Given the description of an element on the screen output the (x, y) to click on. 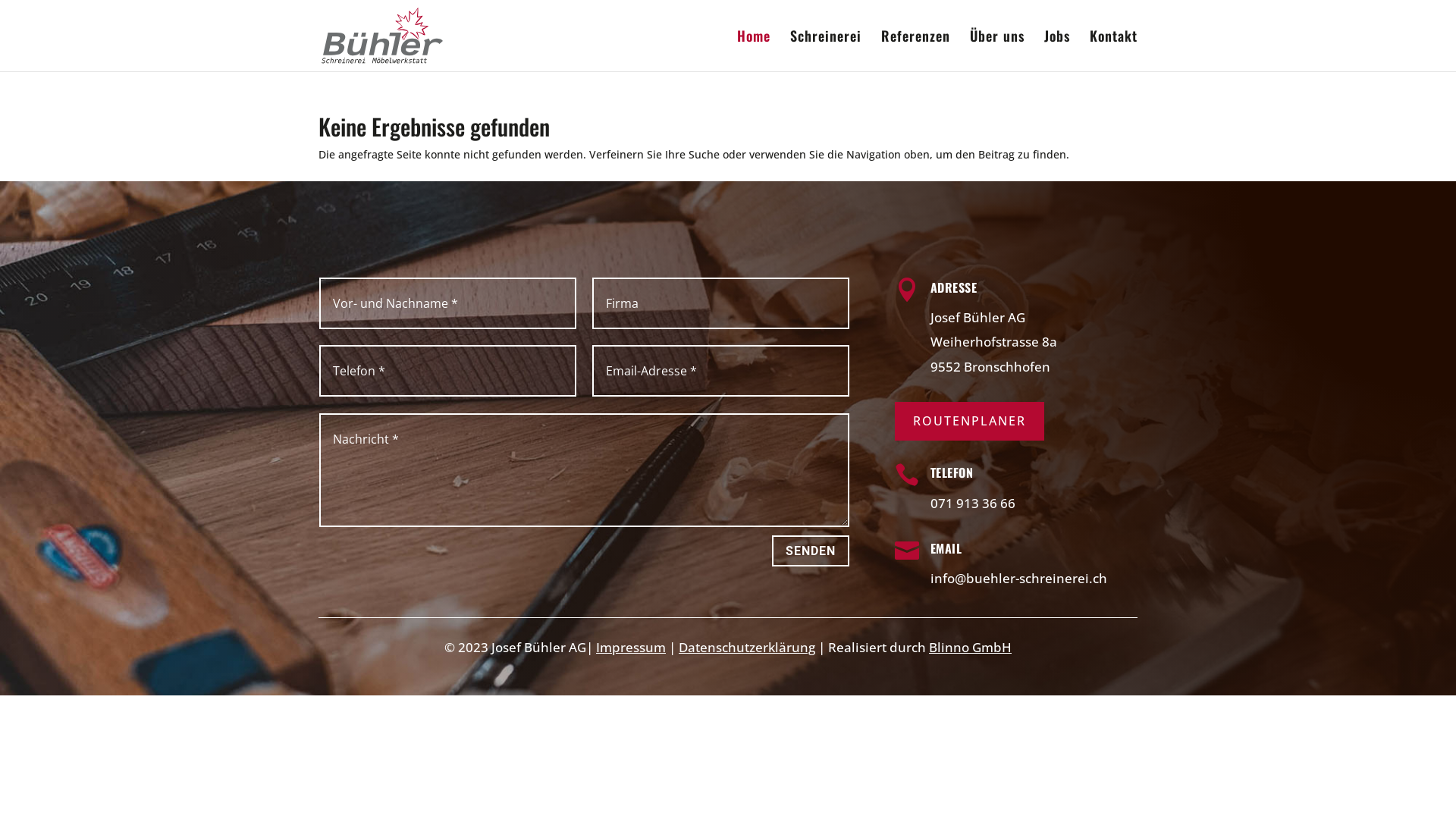
Impressum Element type: text (630, 646)
Jobs Element type: text (1057, 50)
info@buehler-schreinerei.ch Element type: text (1018, 577)
SENDEN Element type: text (810, 550)
Schreinerei Element type: text (825, 50)
Kontakt Element type: text (1113, 50)
Home Element type: text (753, 50)
Referenzen Element type: text (915, 50)
Blinno GmbH Element type: text (969, 646)
ROUTENPLANER Element type: text (969, 420)
